Given the description of an element on the screen output the (x, y) to click on. 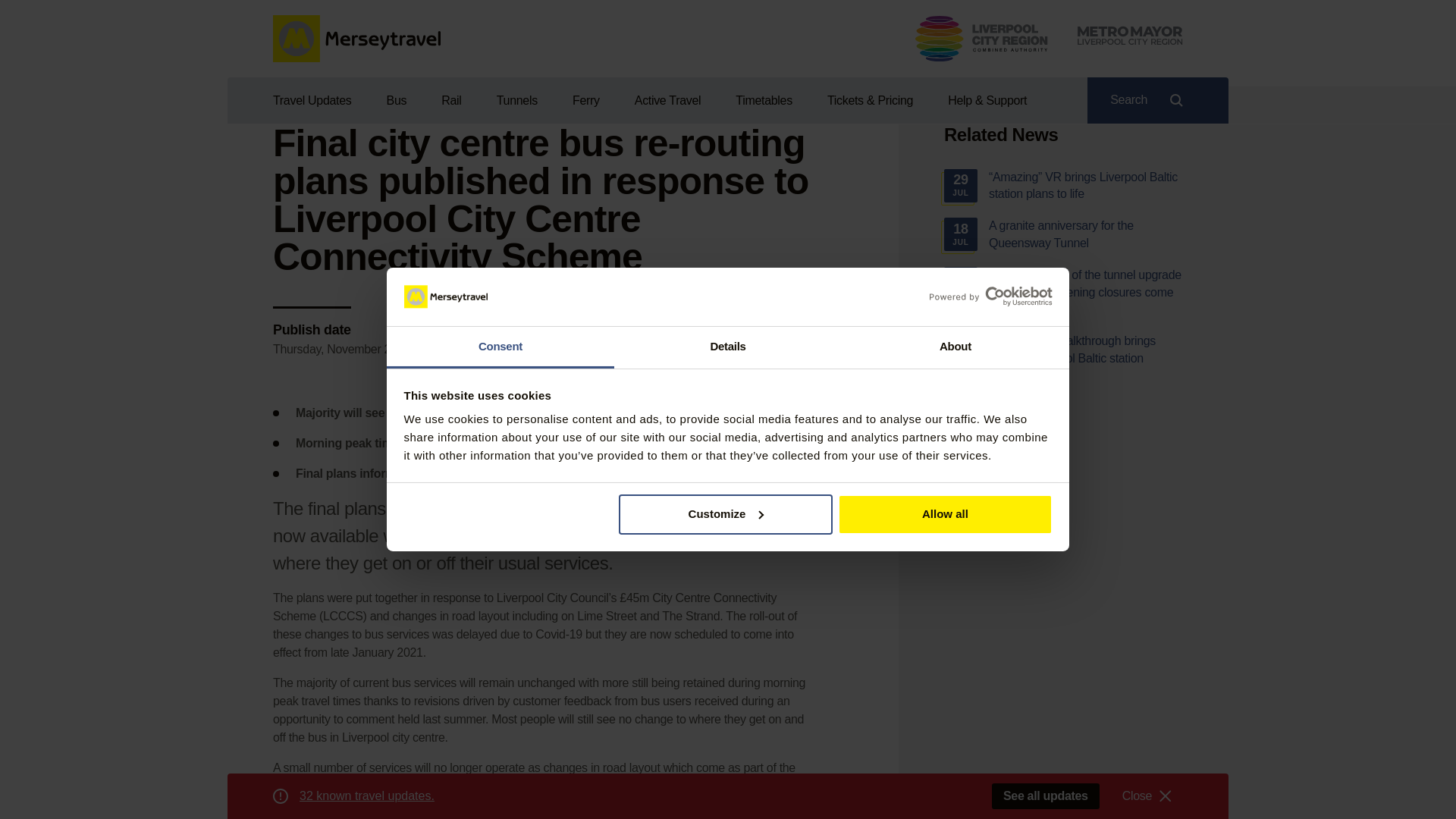
Details (727, 347)
Active Travel (668, 99)
mersey travel link, back to home (357, 38)
Tunnels (517, 99)
Rail (451, 99)
Liverpool City Region CA Logo and Metro Mayor Logo (1048, 38)
Ferry (585, 99)
Consent (500, 347)
Bus (396, 99)
About (954, 347)
Travel Updates (319, 99)
Customize (725, 514)
